Given the description of an element on the screen output the (x, y) to click on. 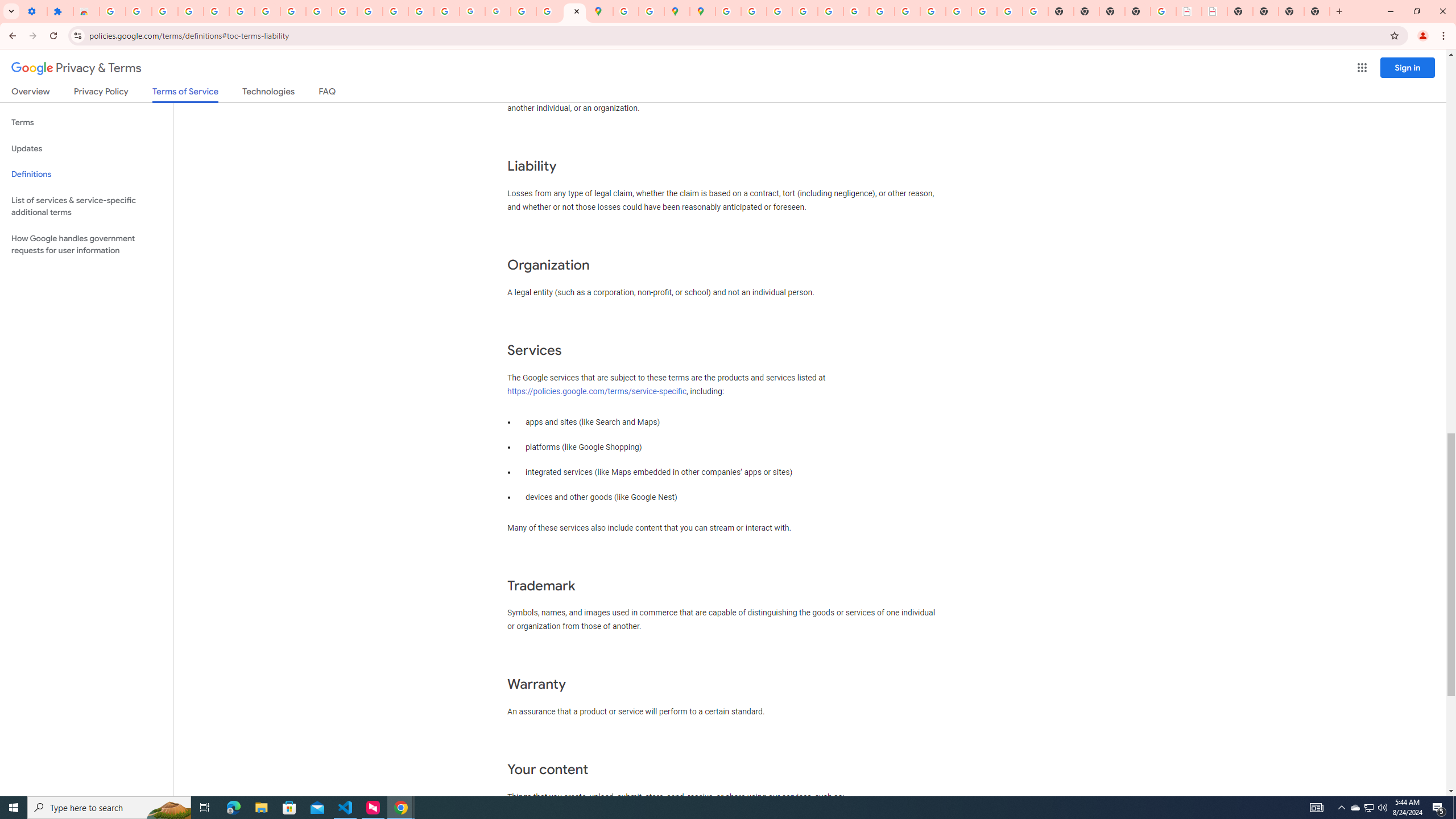
Sign in - Google Accounts (727, 11)
Reviews: Helix Fruit Jump Arcade Game (86, 11)
Google Account (293, 11)
LAAD Defence & Security 2025 | BAE Systems (1188, 11)
Updates (86, 148)
List of services & service-specific additional terms (86, 206)
New Tab (1137, 11)
Technologies (268, 93)
https://scholar.google.com/ (369, 11)
New Tab (1338, 11)
Privacy & Terms (76, 68)
